Given the description of an element on the screen output the (x, y) to click on. 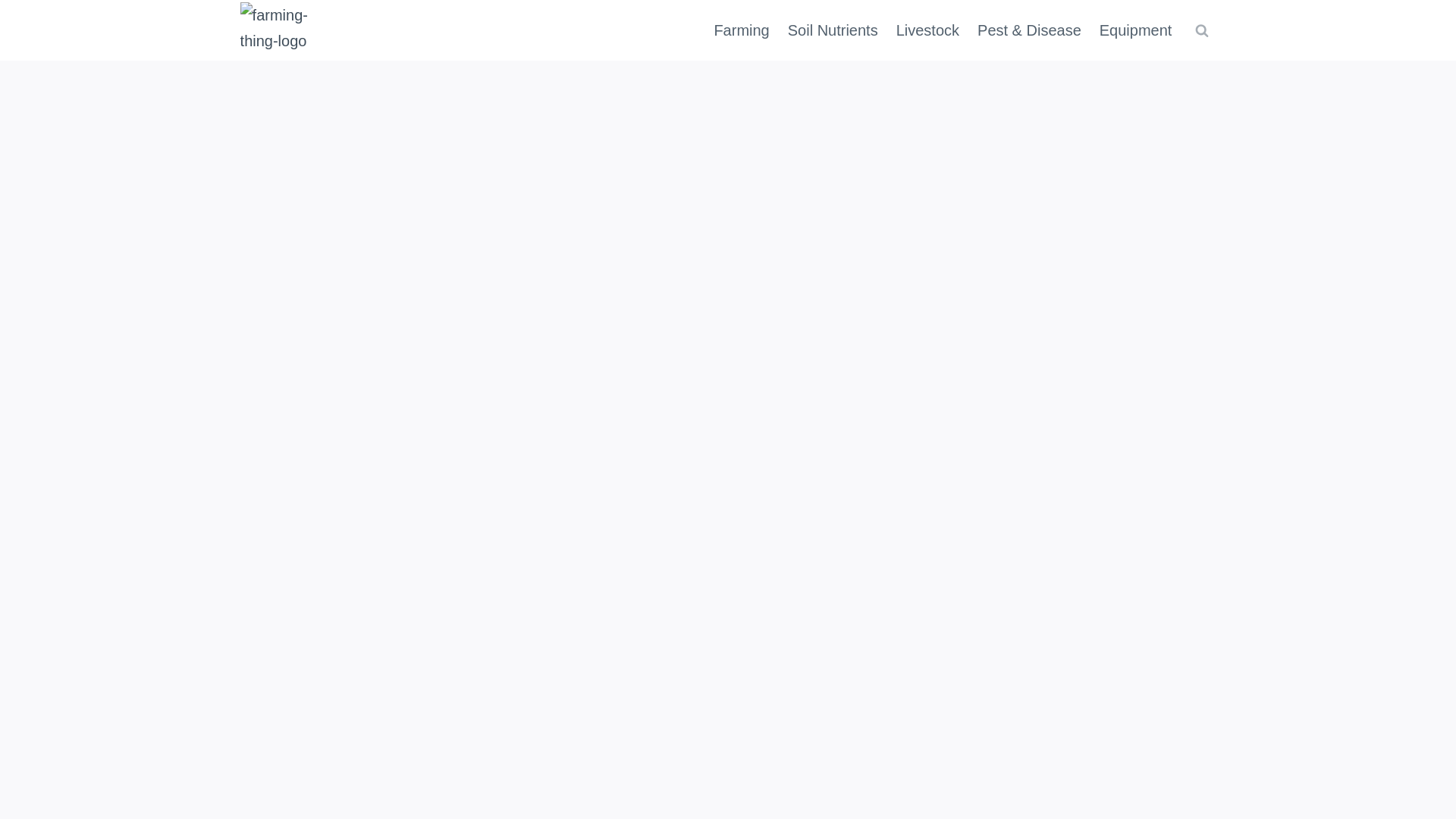
Livestock (927, 30)
Equipment (1135, 30)
Soil Nutrients (832, 30)
Farming (740, 30)
